Given the description of an element on the screen output the (x, y) to click on. 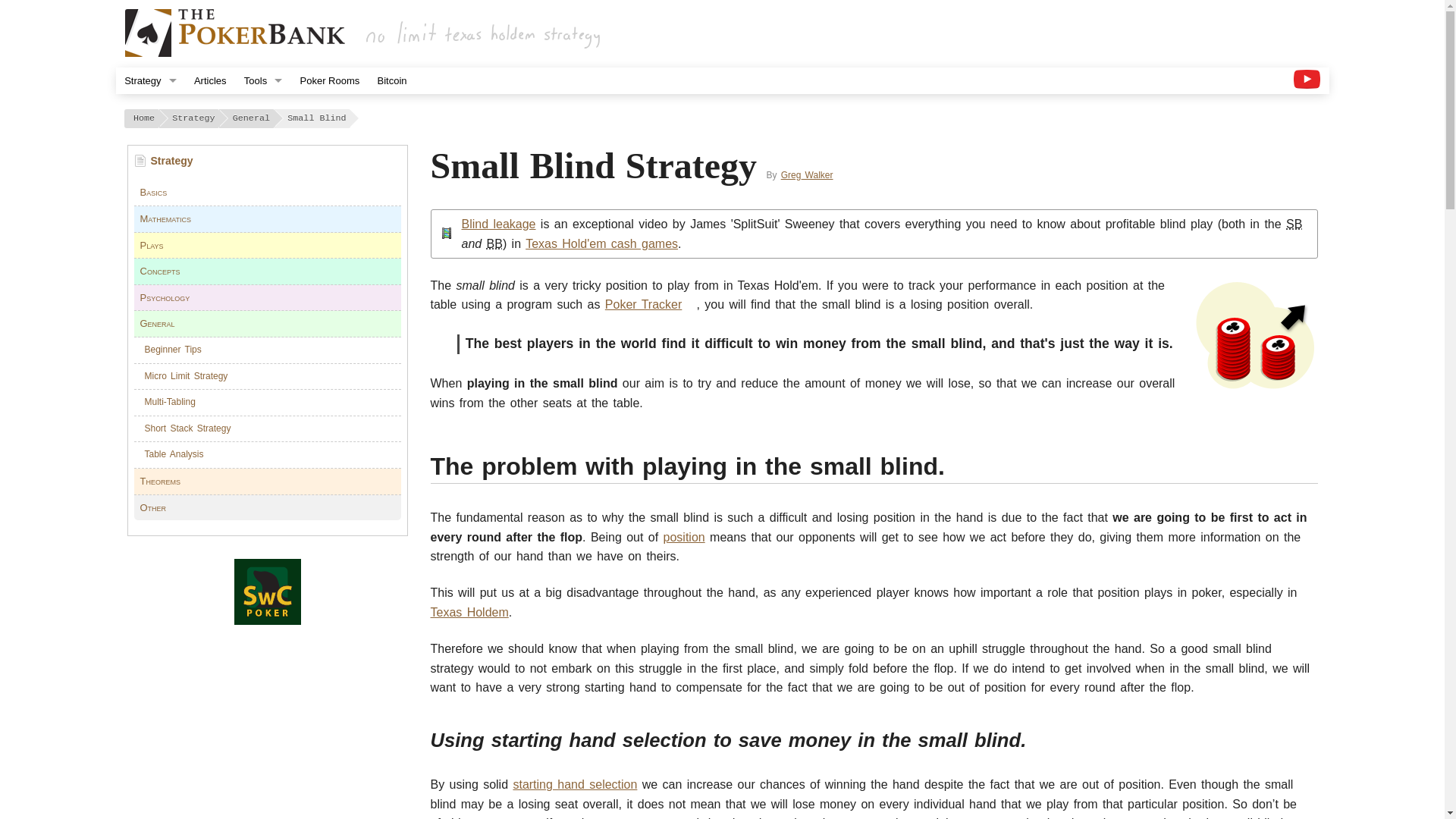
Blind leakage (498, 223)
Basics (153, 192)
Big Blind (494, 243)
Odds Converter (262, 133)
Texas Holdem (469, 612)
Small Blind (1293, 223)
Psychology (164, 297)
Poker Rooms (329, 80)
Software (262, 186)
Odds Charts (262, 107)
